Given the description of an element on the screen output the (x, y) to click on. 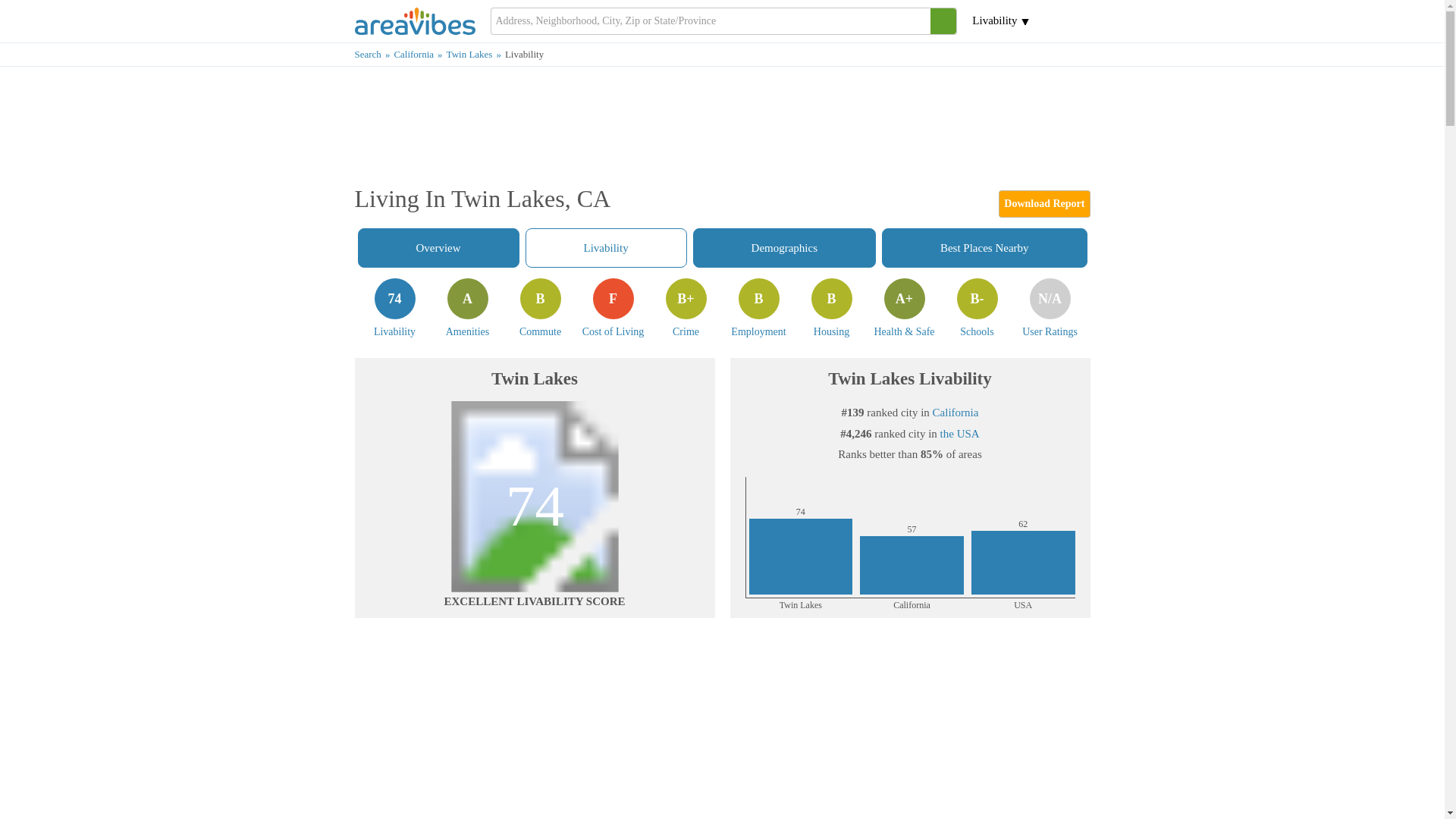
74 (534, 496)
Best Places Nearby (466, 308)
Search (984, 247)
California (539, 308)
Livability (612, 308)
Download Report (374, 53)
